Given the description of an element on the screen output the (x, y) to click on. 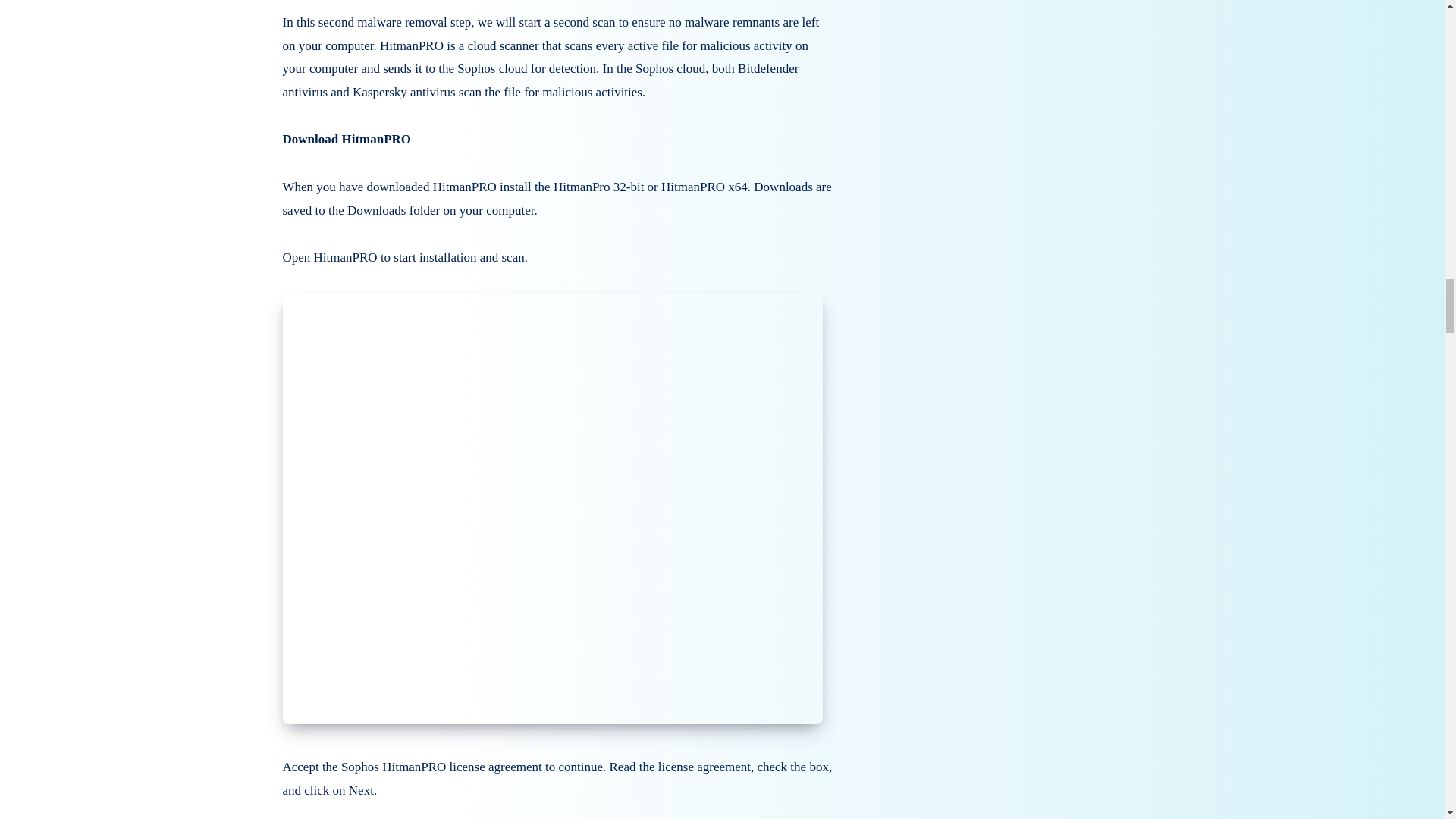
Download HitmanPRO (346, 138)
